Given the description of an element on the screen output the (x, y) to click on. 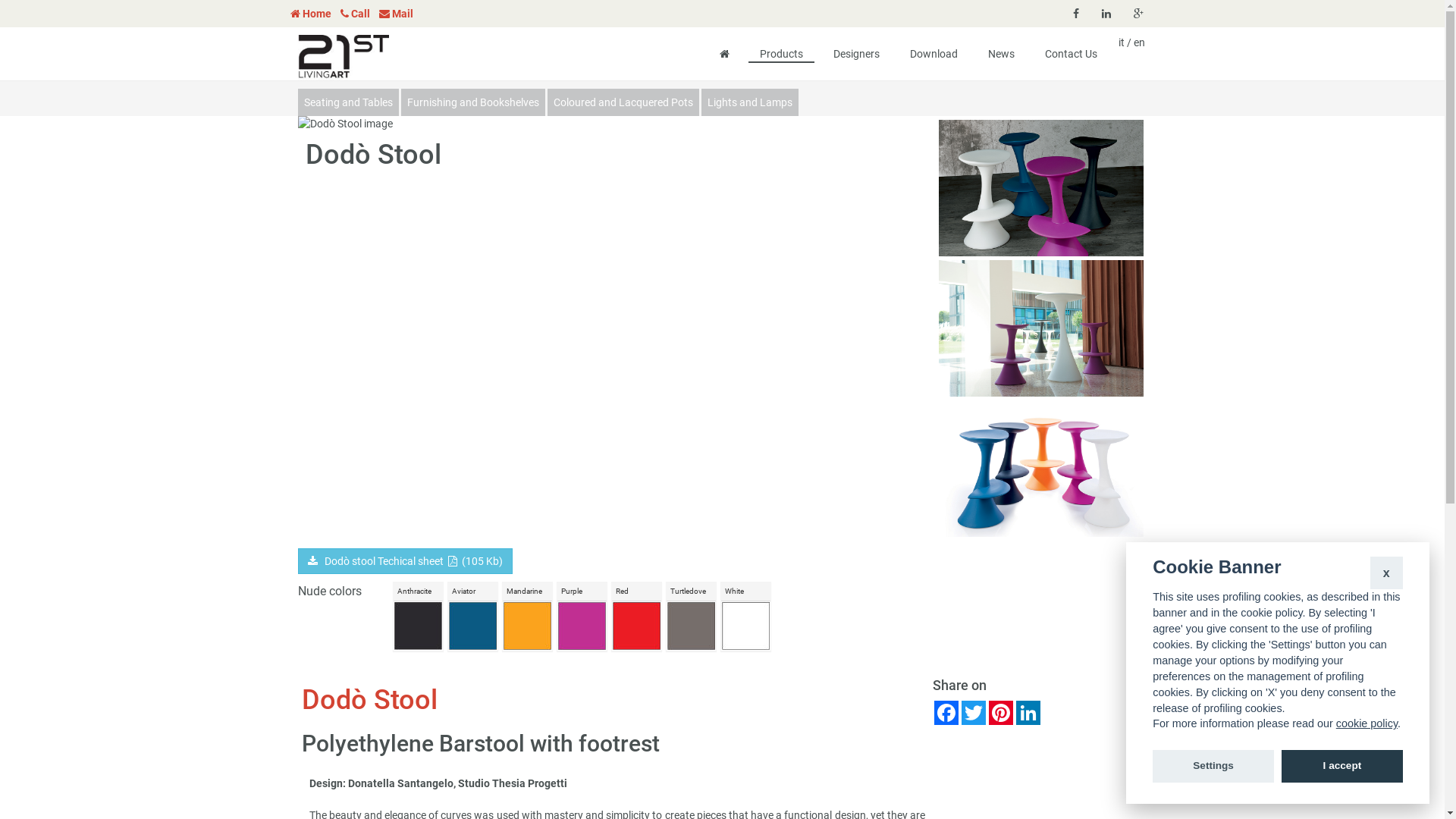
Home Element type: text (313, 13)
Lights and Lamps Element type: text (748, 102)
x Element type: text (1386, 572)
cookie policy Element type: text (1366, 724)
Designers Element type: text (856, 44)
Mail Element type: text (399, 13)
it Element type: text (1121, 38)
Contact Us Element type: text (1069, 44)
Twitter Element type: text (973, 712)
Pinterest Element type: text (1000, 712)
News Element type: text (1001, 44)
Download Element type: text (932, 44)
Coloured and Lacquered Pots Element type: text (623, 102)
LinkedIn Element type: text (1027, 712)
Call Element type: text (357, 13)
Settings Element type: text (1213, 766)
Facebook Element type: text (946, 712)
I accept Element type: text (1341, 766)
Seating and Tables Element type: text (347, 102)
en Element type: text (1139, 38)
Products Element type: text (780, 44)
Furnishing and Bookshelves Element type: text (472, 102)
